Given the description of an element on the screen output the (x, y) to click on. 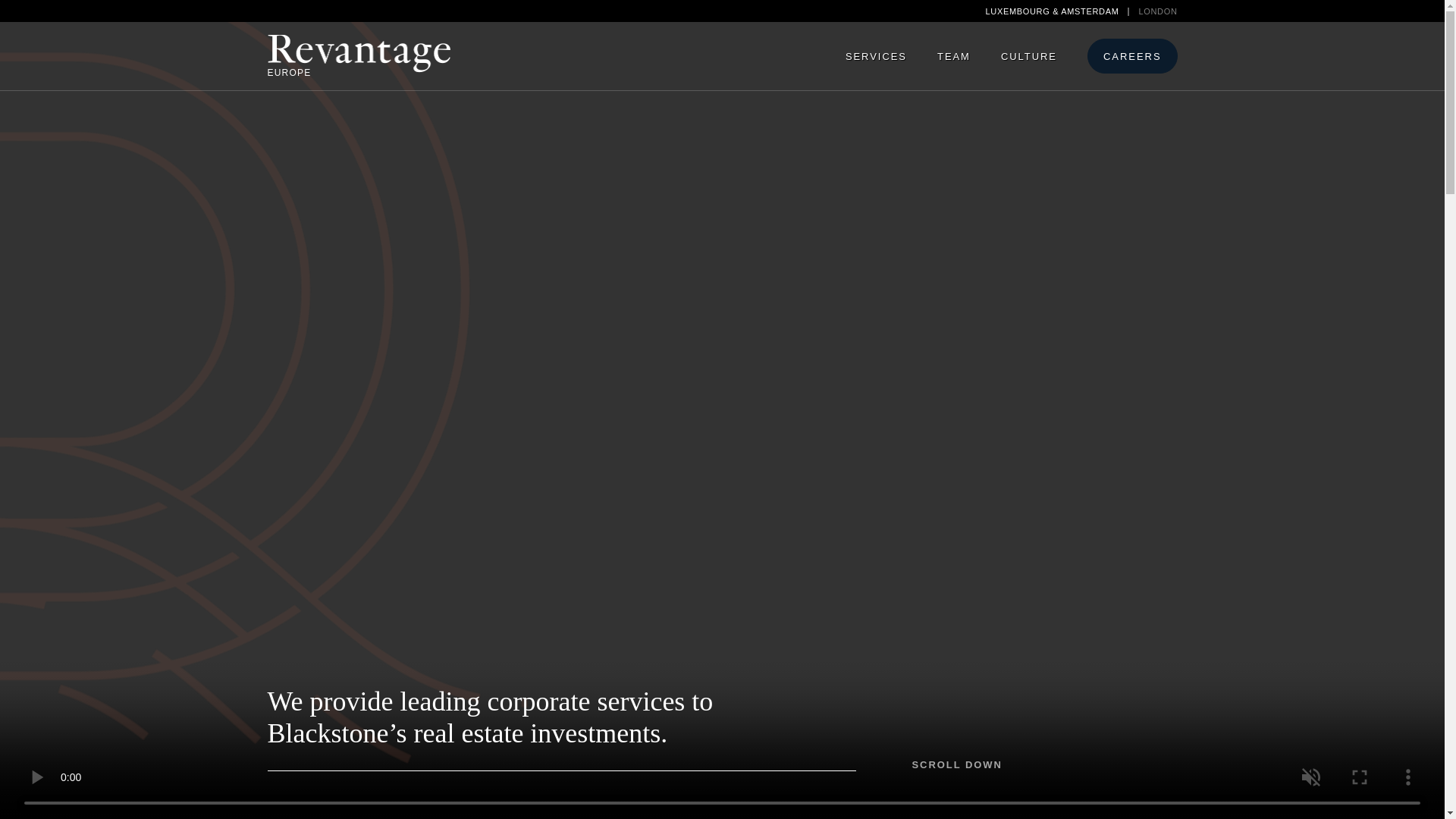
LONDON (1157, 11)
SCROLL DOWN (956, 764)
SCROLL DOWN (956, 764)
CAREERS (1132, 55)
TEAM (953, 56)
SERVICES (875, 56)
CULTURE (1028, 56)
